Given the description of an element on the screen output the (x, y) to click on. 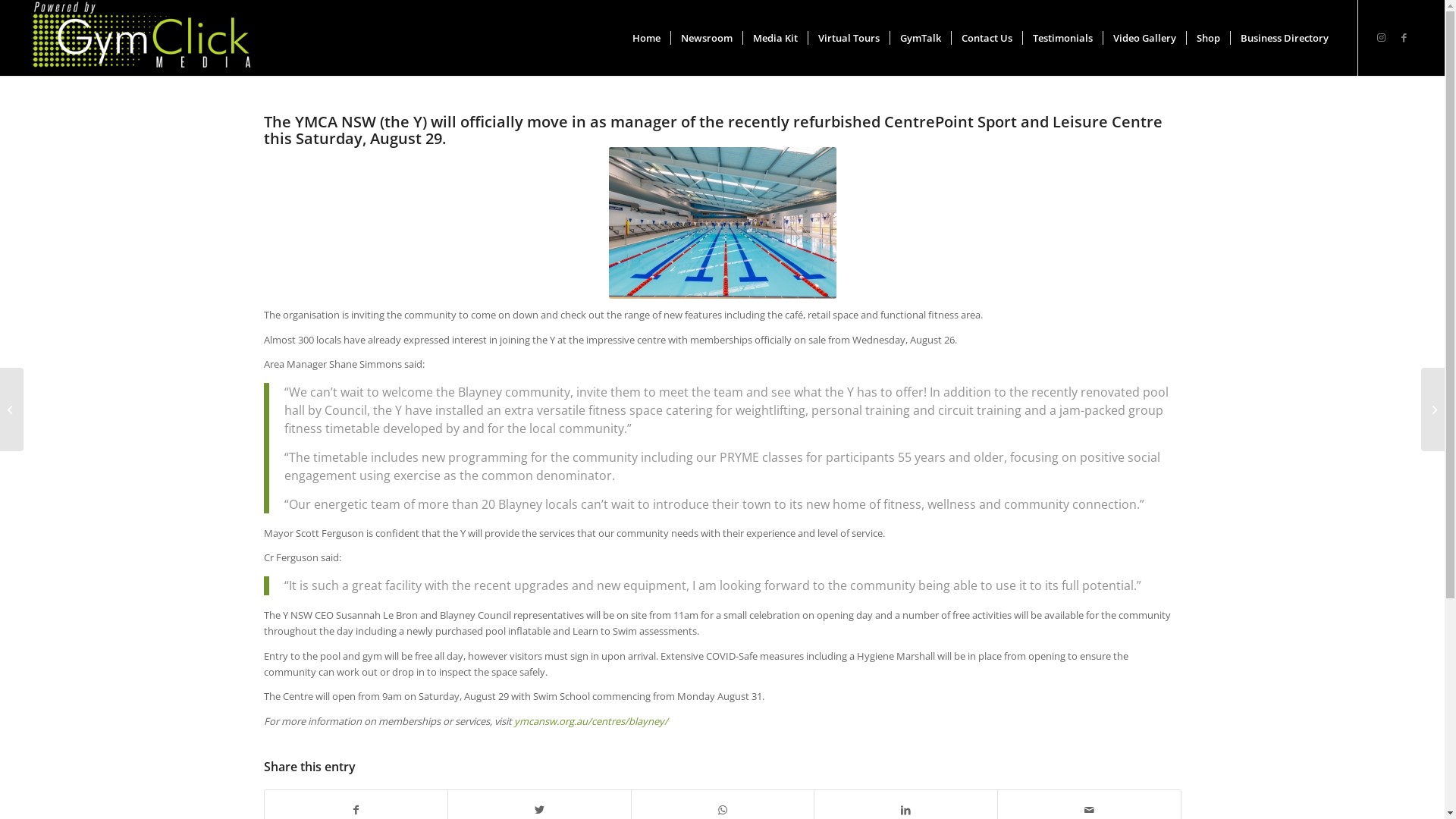
Virtual Tours Element type: text (848, 37)
Shop Element type: text (1208, 37)
GymTalk Element type: text (919, 37)
Instagram Element type: hover (1381, 36)
Newsroom Element type: text (706, 37)
Home Element type: text (646, 37)
CentrePoint Sport and Leisure_Blayney Element type: hover (721, 222)
Testimonials Element type: text (1062, 37)
Business Directory Element type: text (1284, 37)
Facebook Element type: hover (1404, 36)
Contact Us Element type: text (986, 37)
Media Kit Element type: text (774, 37)
Video Gallery Element type: text (1144, 37)
ymcansw.org.au/centres/blayney/ Element type: text (591, 721)
